Given the description of an element on the screen output the (x, y) to click on. 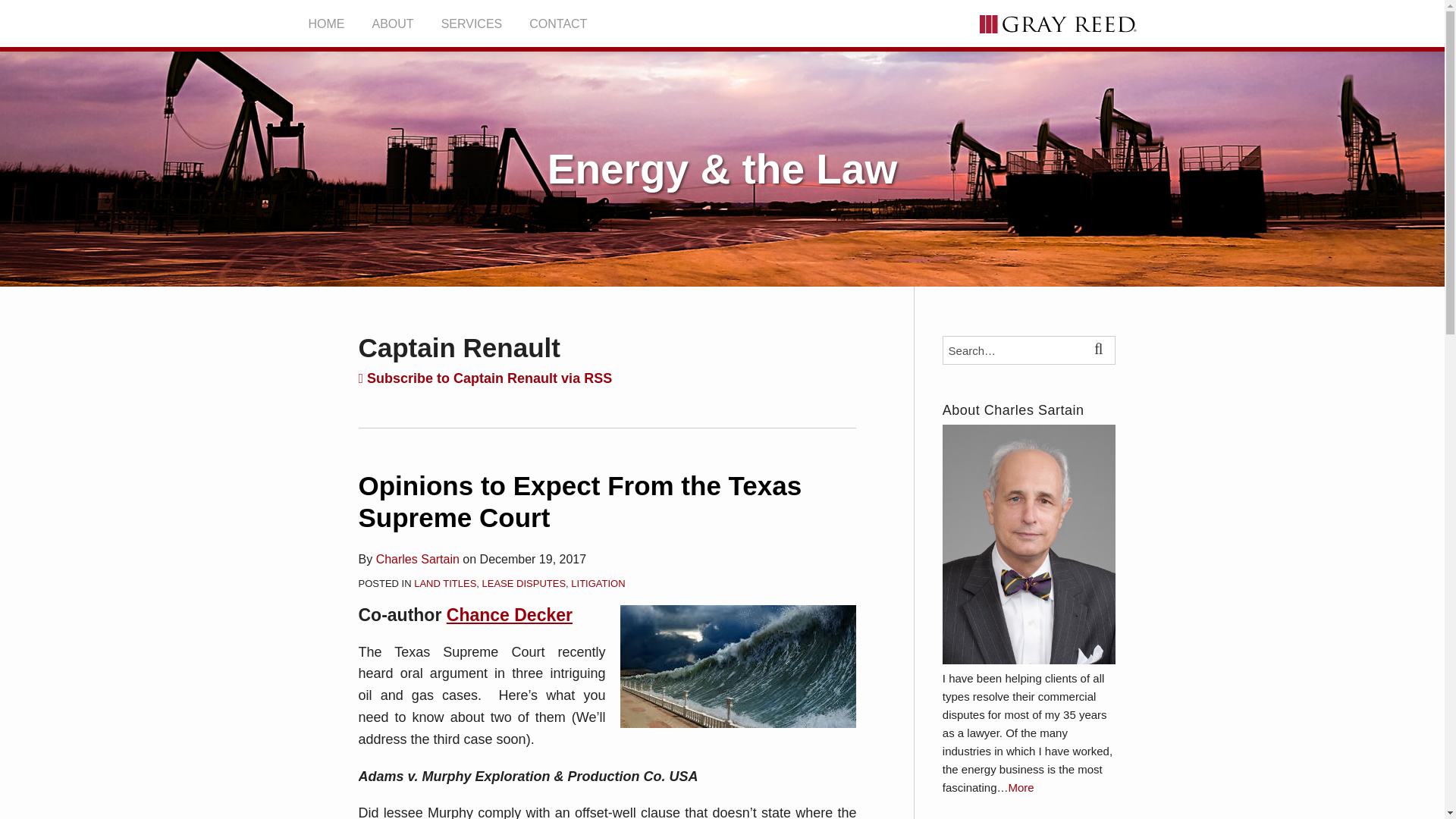
HOME (325, 24)
LEASE DISPUTES (523, 583)
ABOUT (392, 24)
Subscribe to Captain Renault via RSS (484, 378)
LITIGATION (597, 583)
CONTACT (557, 24)
LAND TITLES (444, 583)
Chance Decker (509, 614)
SERVICES (471, 24)
Charles Sartain (417, 558)
